Given the description of an element on the screen output the (x, y) to click on. 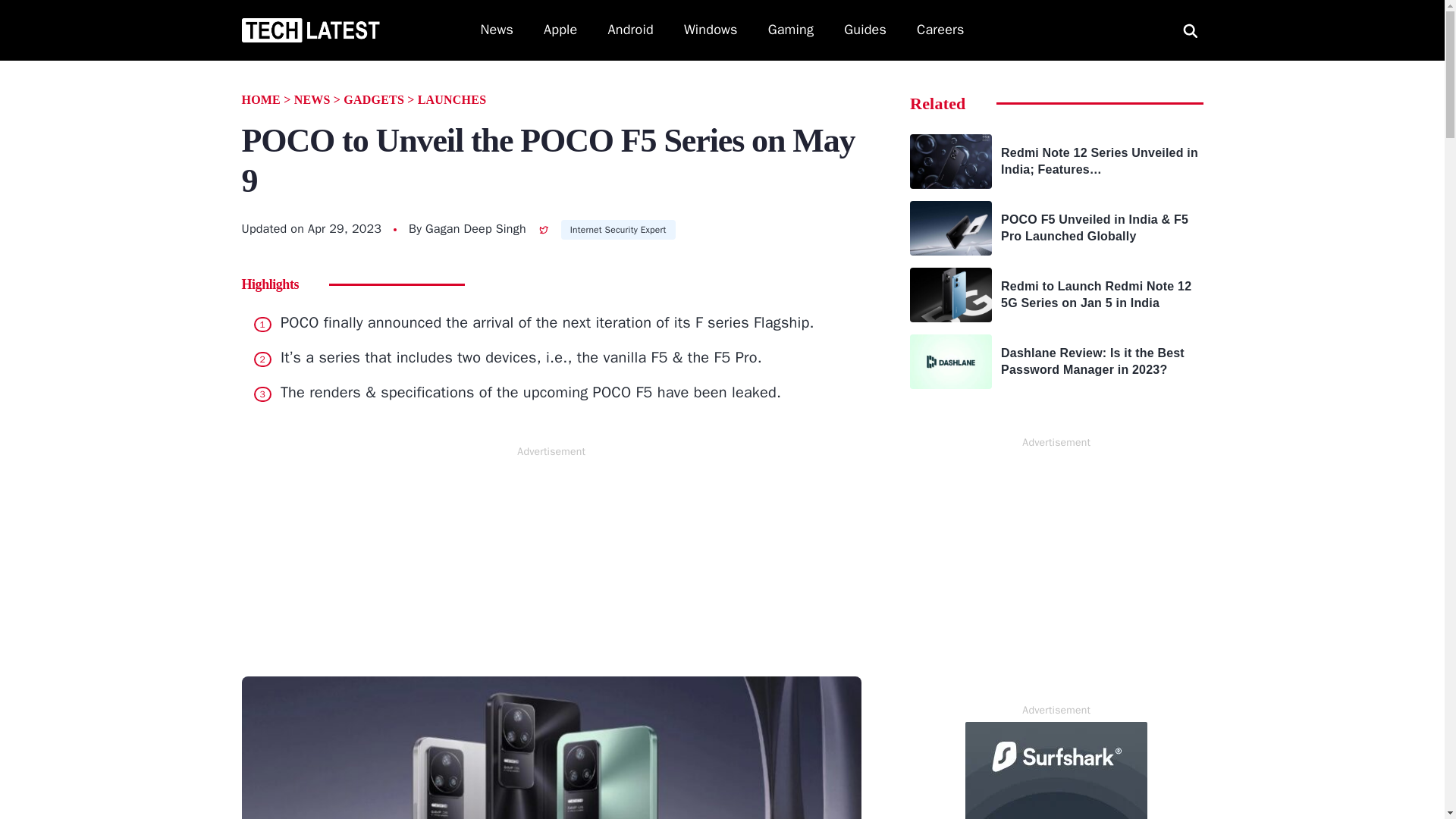
LAUNCHES (451, 99)
Search (29, 11)
Careers (940, 30)
Windows (711, 30)
Gaming (790, 30)
Gagan Deep Singh (475, 228)
News (496, 30)
GADGETS (373, 99)
Apple (560, 30)
Guides (865, 30)
